Given the description of an element on the screen output the (x, y) to click on. 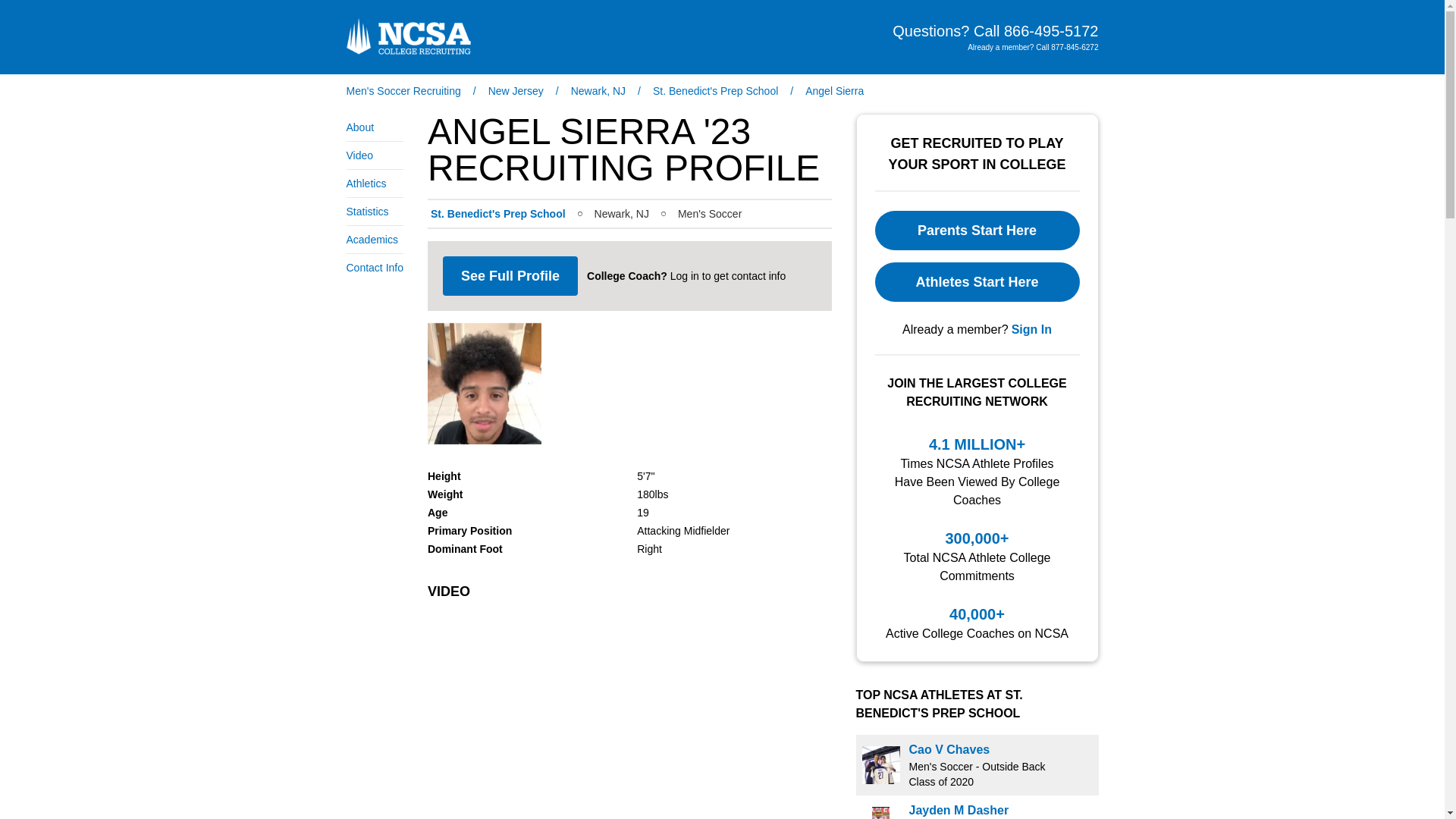
Cao V Chaves (949, 748)
Questions? Call 866-495-5172 (994, 30)
Parents Start Here (977, 230)
Athletes Start Here (977, 282)
Already a member? Call 877-845-6272 (1032, 47)
New Jersey (515, 90)
See Full Profile (510, 275)
Men's Soccer Recruiting (403, 90)
St. Benedict's Prep School (498, 213)
Sign In (1031, 330)
